Given the description of an element on the screen output the (x, y) to click on. 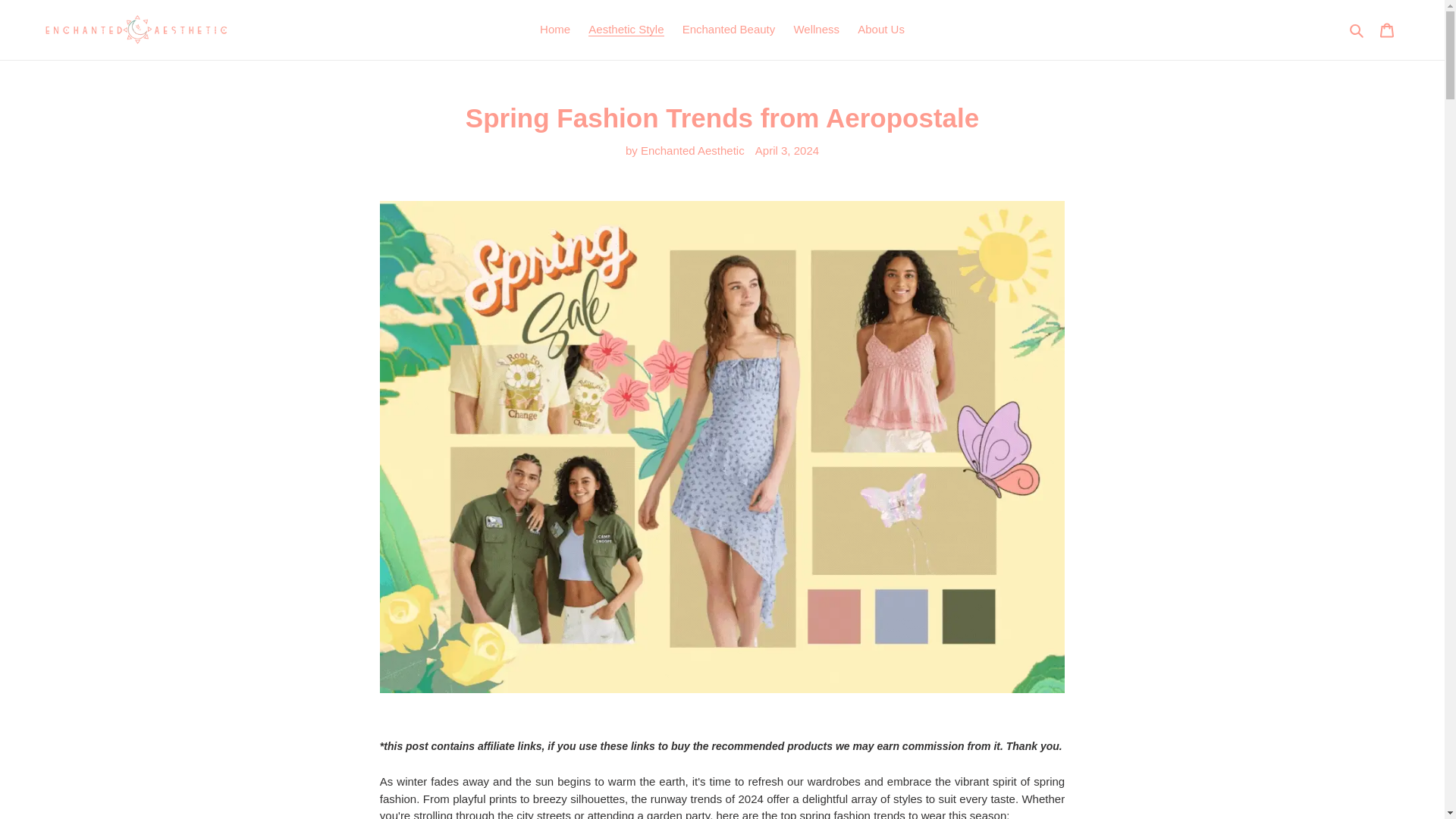
Home (555, 29)
Aesthetic Style (625, 29)
Cart (1387, 29)
About Us (881, 29)
Enchanted Beauty (729, 29)
Search (1357, 29)
Wellness (816, 29)
